Given the description of an element on the screen output the (x, y) to click on. 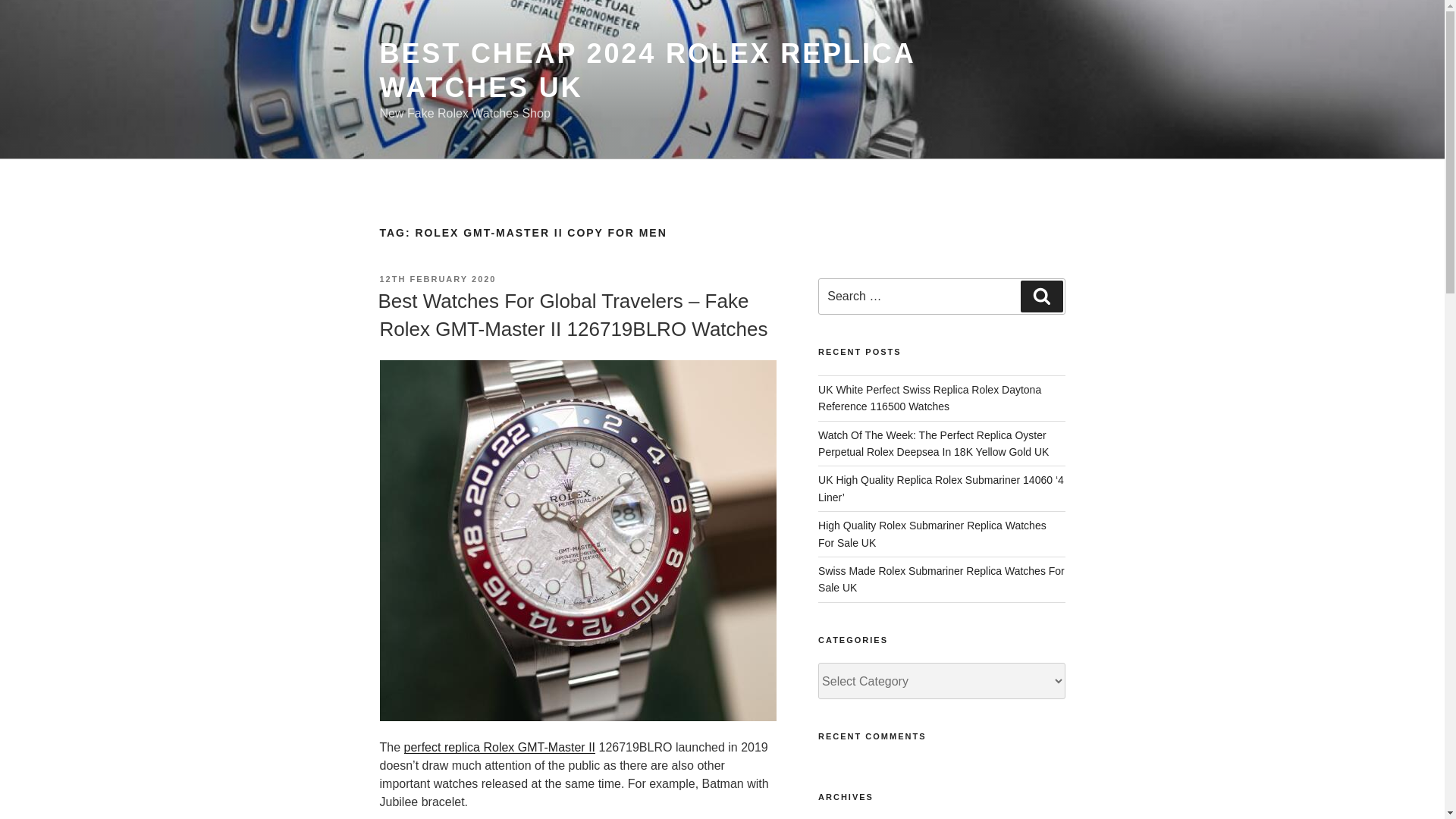
12TH FEBRUARY 2020 (437, 278)
Search (1041, 296)
BEST CHEAP 2024 ROLEX REPLICA WATCHES UK (646, 70)
Swiss Made Rolex Submariner Replica Watches For Sale UK (941, 579)
High Quality Rolex Submariner Replica Watches For Sale UK (932, 533)
perfect replica Rolex GMT-Master II (499, 747)
